Given the description of an element on the screen output the (x, y) to click on. 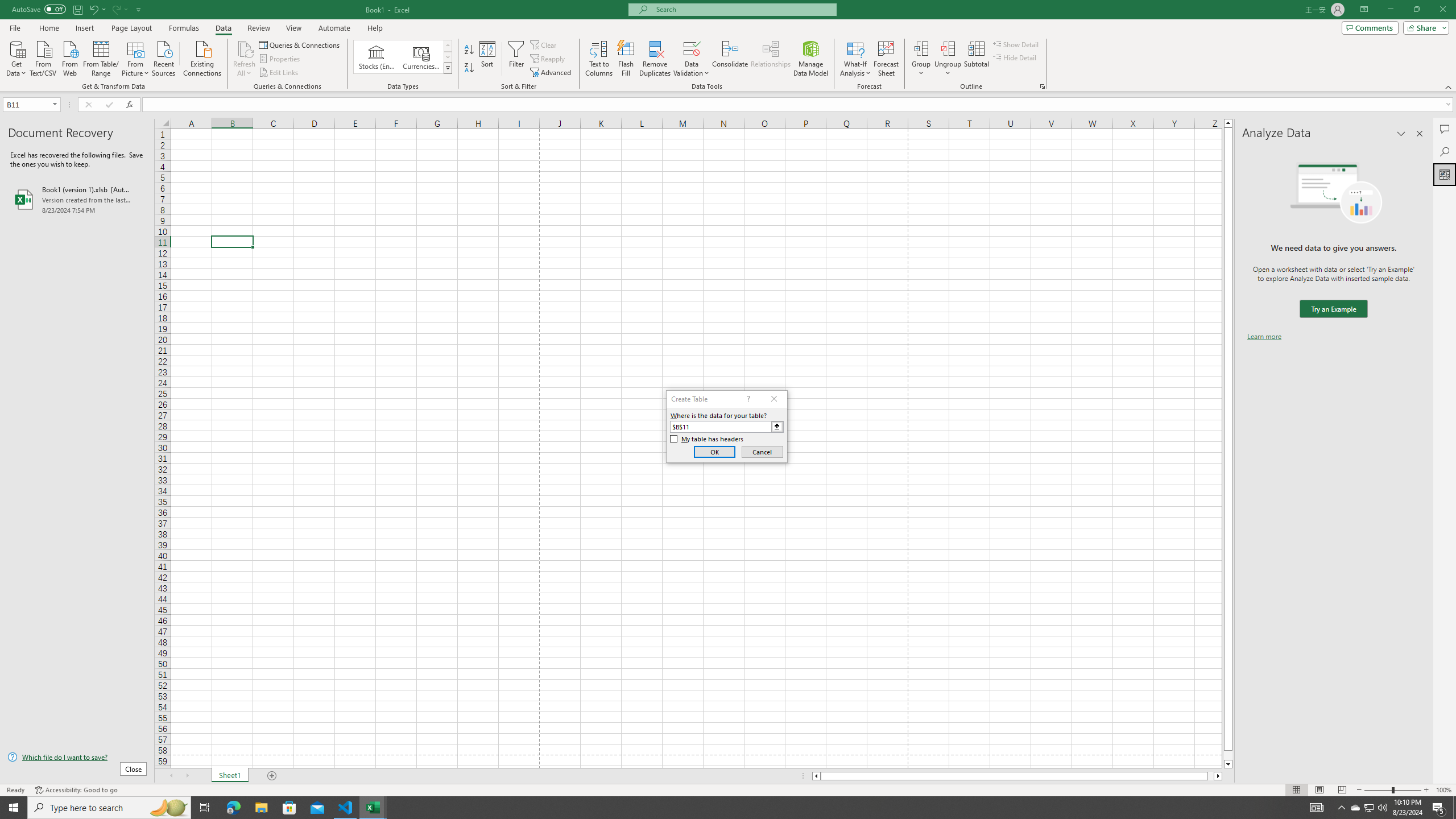
Name Box (27, 104)
Insert (83, 28)
From Table/Range (100, 57)
Review (258, 28)
From Web (69, 57)
Flash Fill (625, 58)
Comments (1444, 128)
Close (1442, 9)
Zoom Out (1377, 790)
Existing Connections (202, 57)
AutomationID: ConvertToLinkedEntity (403, 56)
Minimize (1390, 9)
Data (223, 28)
Which file do I want to save? (77, 757)
Clear (544, 44)
